Given the description of an element on the screen output the (x, y) to click on. 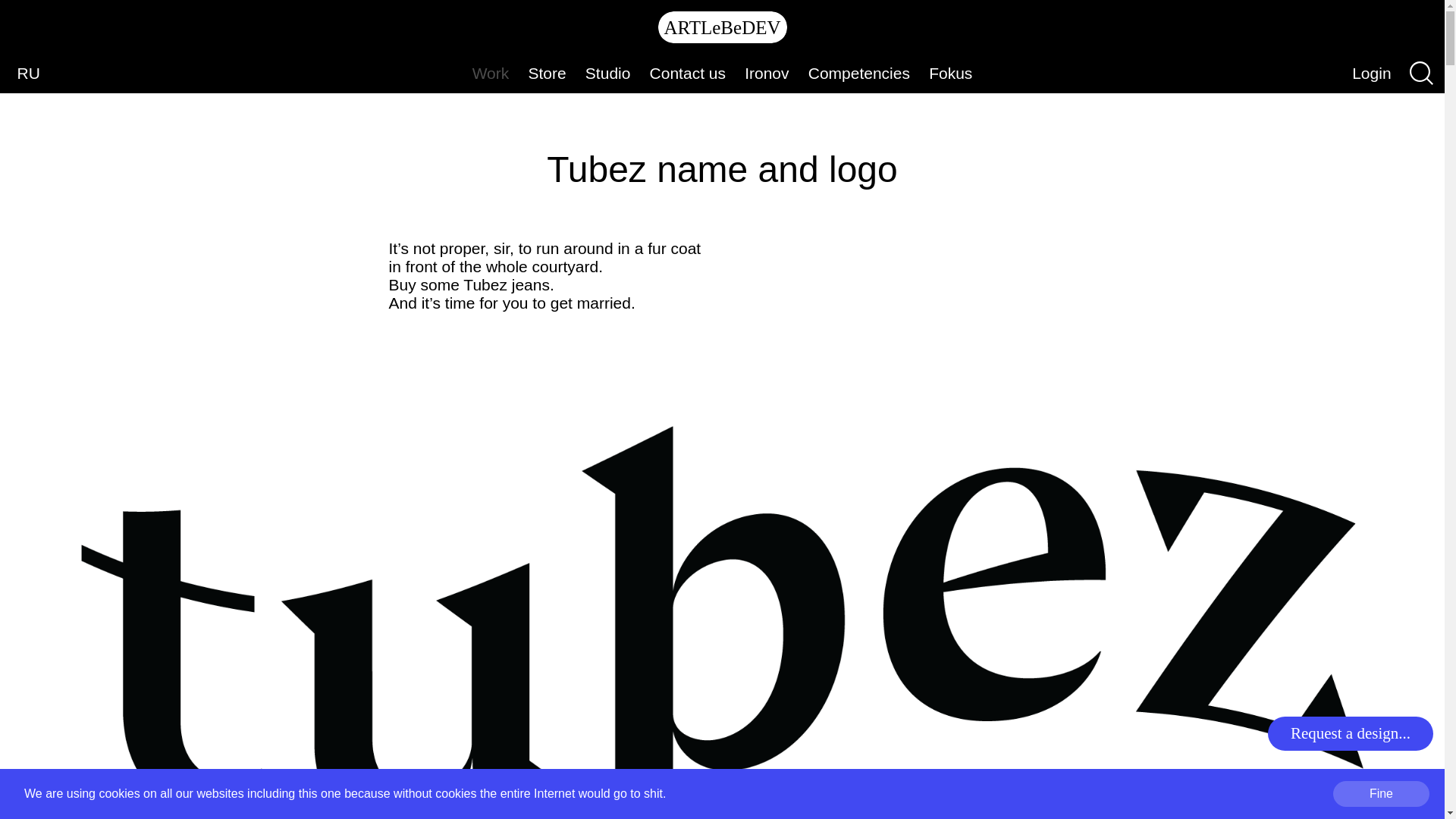
Store (546, 72)
Studio (607, 72)
Ironov (767, 72)
Login  (1373, 72)
Work (490, 72)
Fokus (950, 72)
RU (28, 72)
Competencies (857, 72)
Contact us (687, 72)
